Given the description of an element on the screen output the (x, y) to click on. 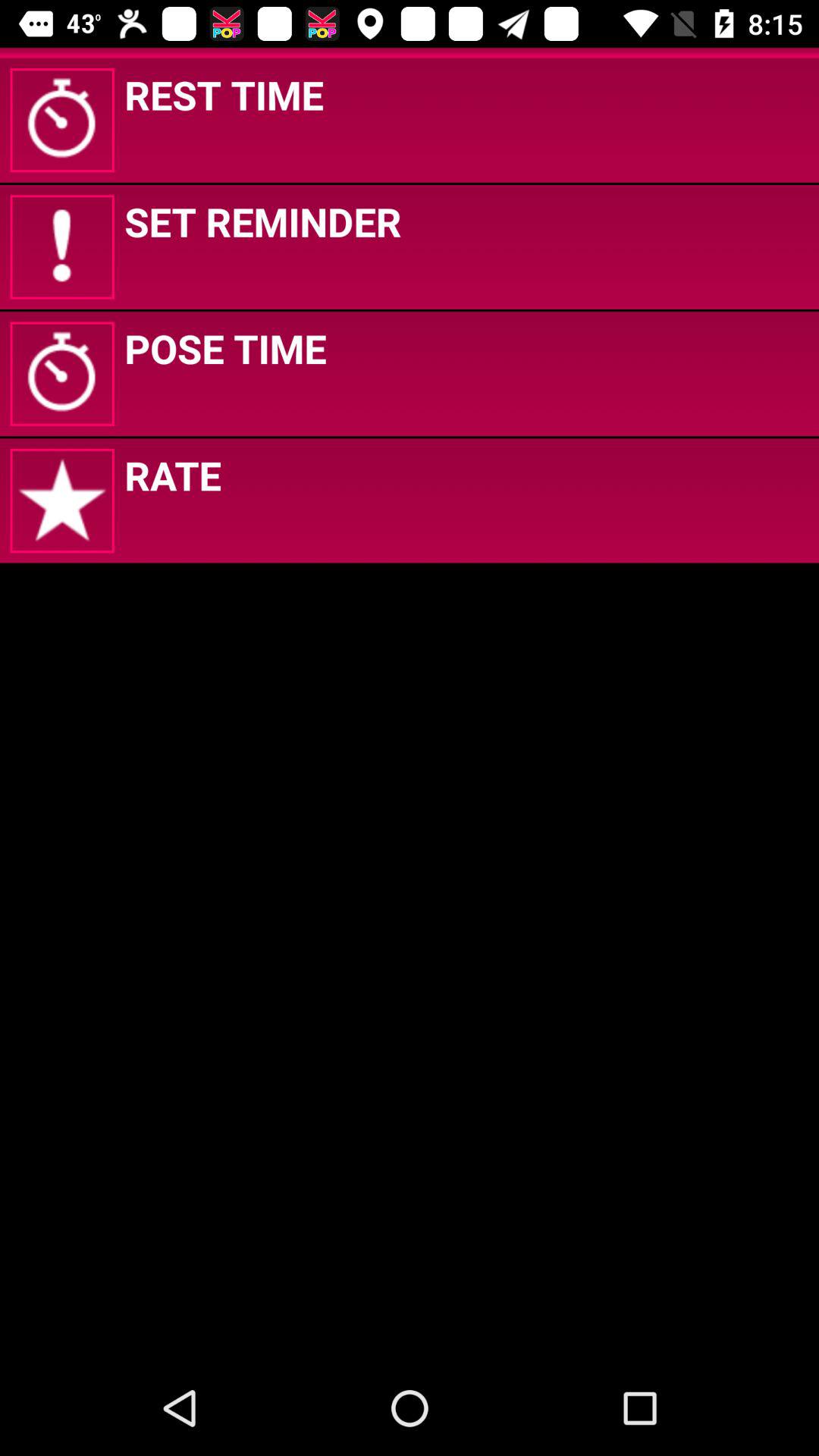
press the rest time item (223, 94)
